Given the description of an element on the screen output the (x, y) to click on. 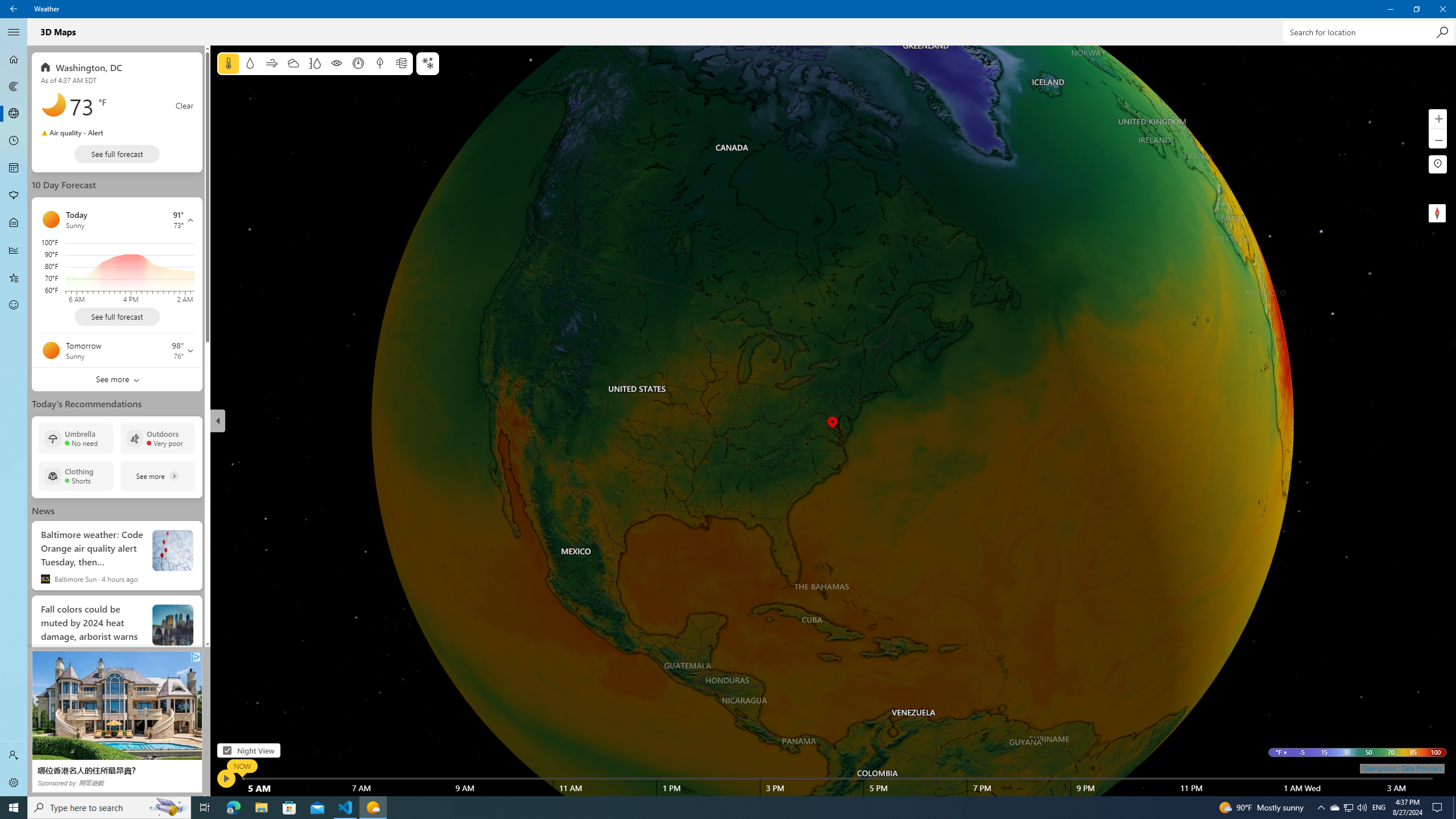
Send Feedback - Not Selected (13, 304)
Search for location (1367, 32)
Hourly Forecast - Not Selected (13, 140)
Running applications (706, 807)
